Given the description of an element on the screen output the (x, y) to click on. 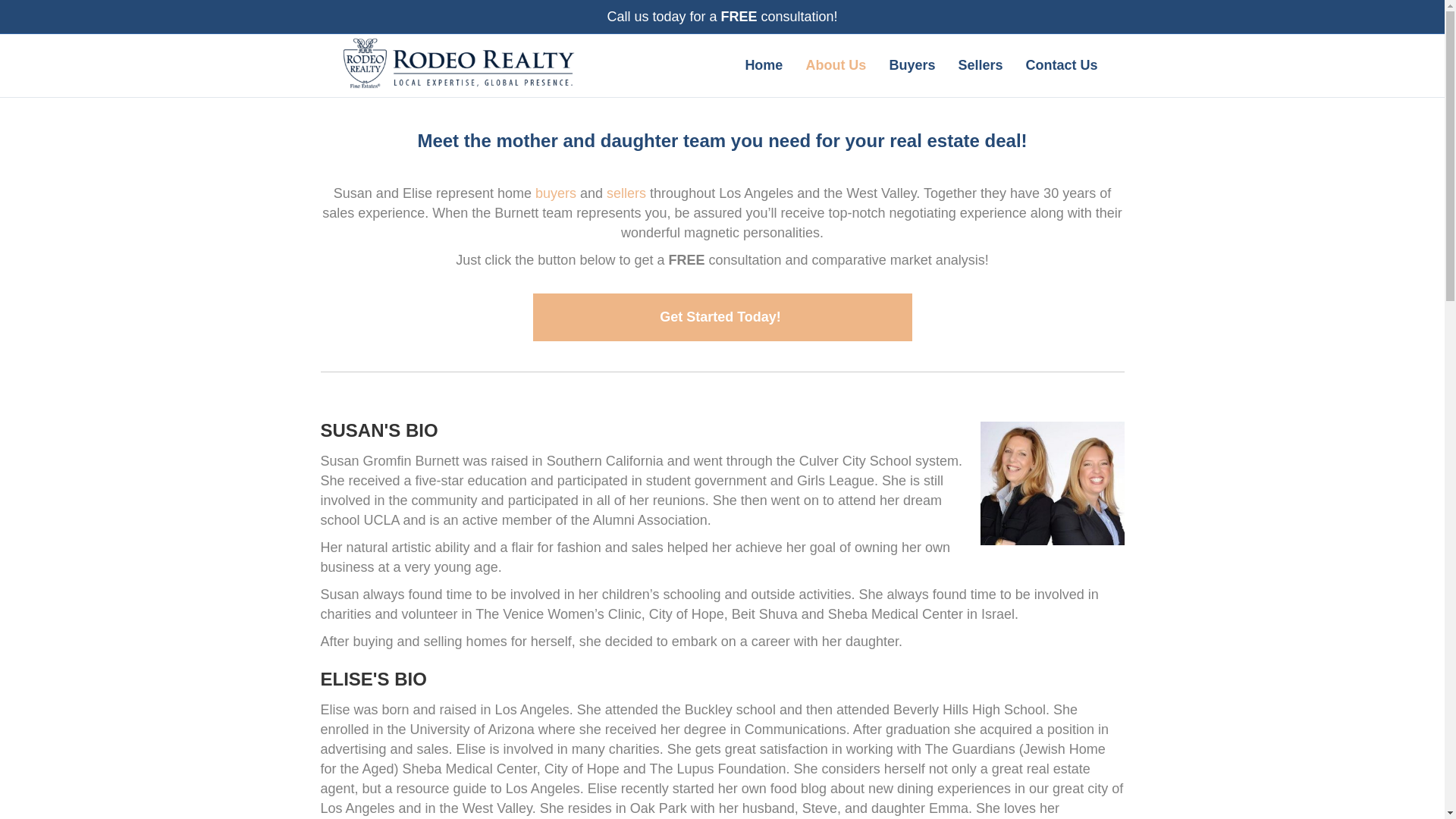
Sellers (979, 65)
buyers (555, 192)
Get Started Today! (721, 316)
Buyers (911, 65)
Contact Us (1060, 65)
sellers (626, 192)
About Us (835, 65)
Home (763, 65)
Call us today for a FREE consultation! (722, 16)
